Given the description of an element on the screen output the (x, y) to click on. 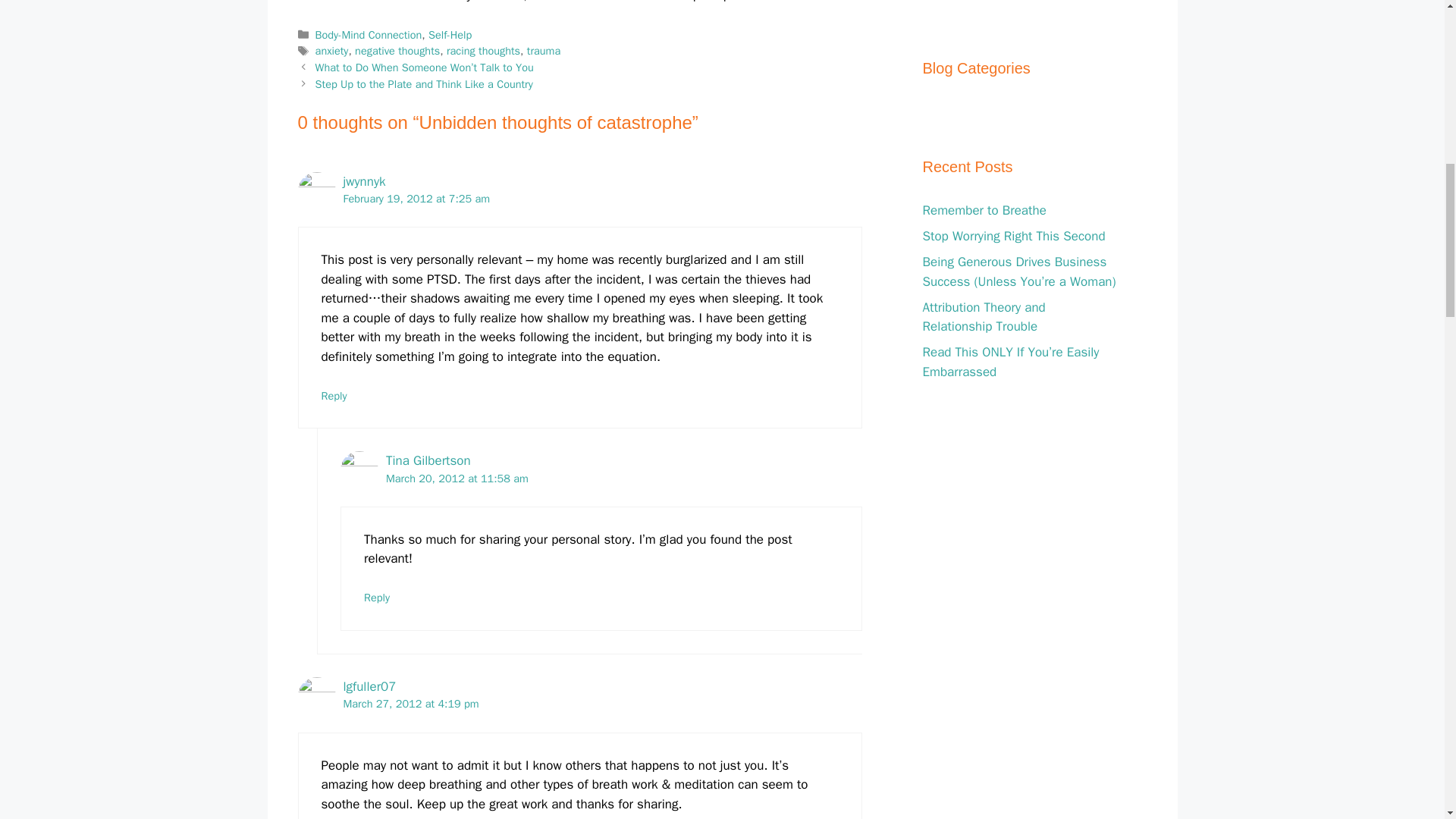
Body-Mind Connection (368, 34)
Tina Gilbertson (427, 460)
anxiety (332, 50)
trauma (543, 50)
February 19, 2012 at 7:25 am (415, 198)
jwynnyk (363, 181)
racing thoughts (482, 50)
Scroll back to top (1406, 720)
Step Up to the Plate and Think Like a Country (423, 83)
Reply (334, 395)
